Given the description of an element on the screen output the (x, y) to click on. 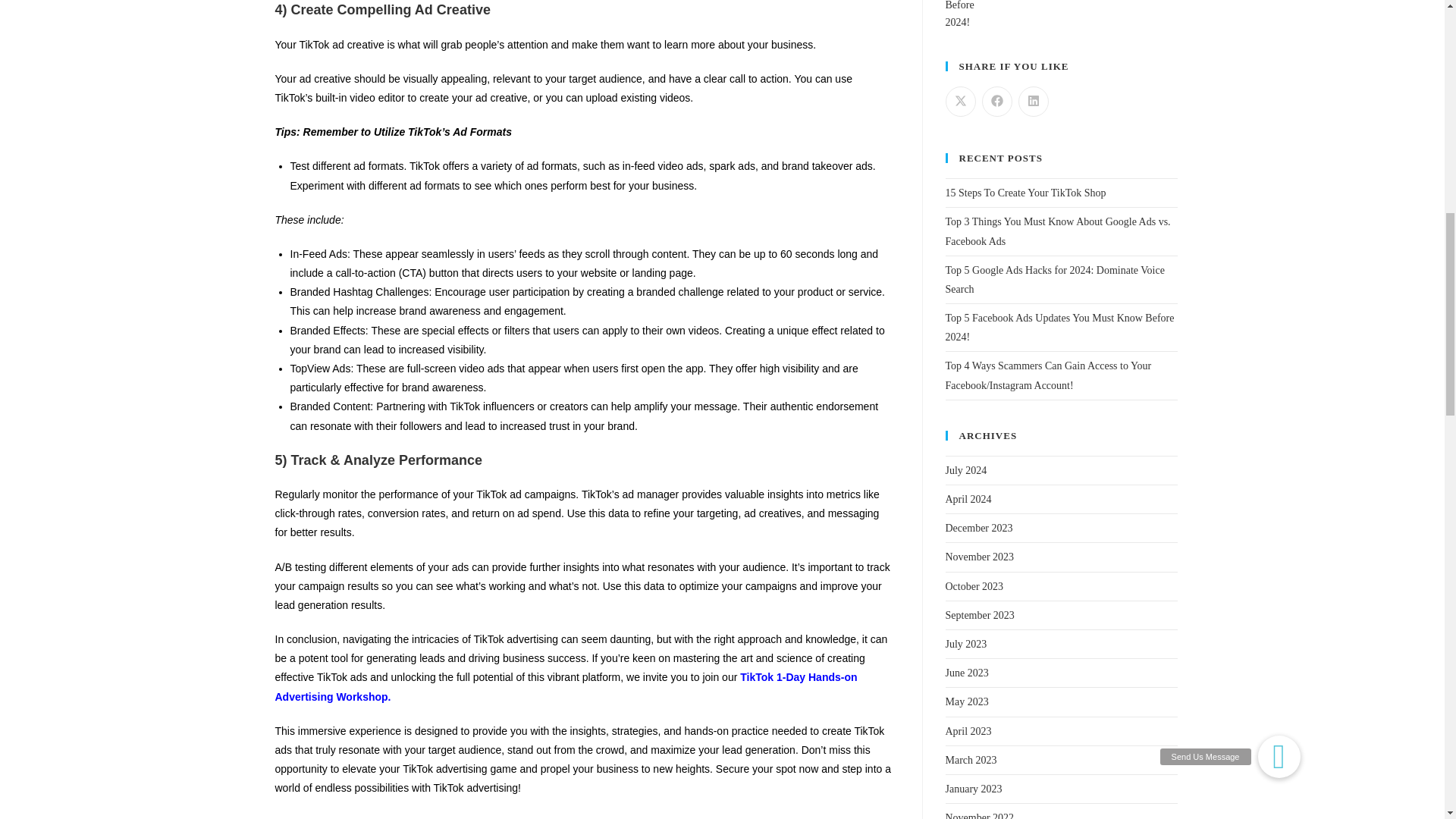
Top 5 Facebook Ads Updates You Must Know Before 2024! (969, 15)
Share on Facebook (996, 101)
Share on LinkedIn (1032, 101)
Share on X (959, 101)
